Given the description of an element on the screen output the (x, y) to click on. 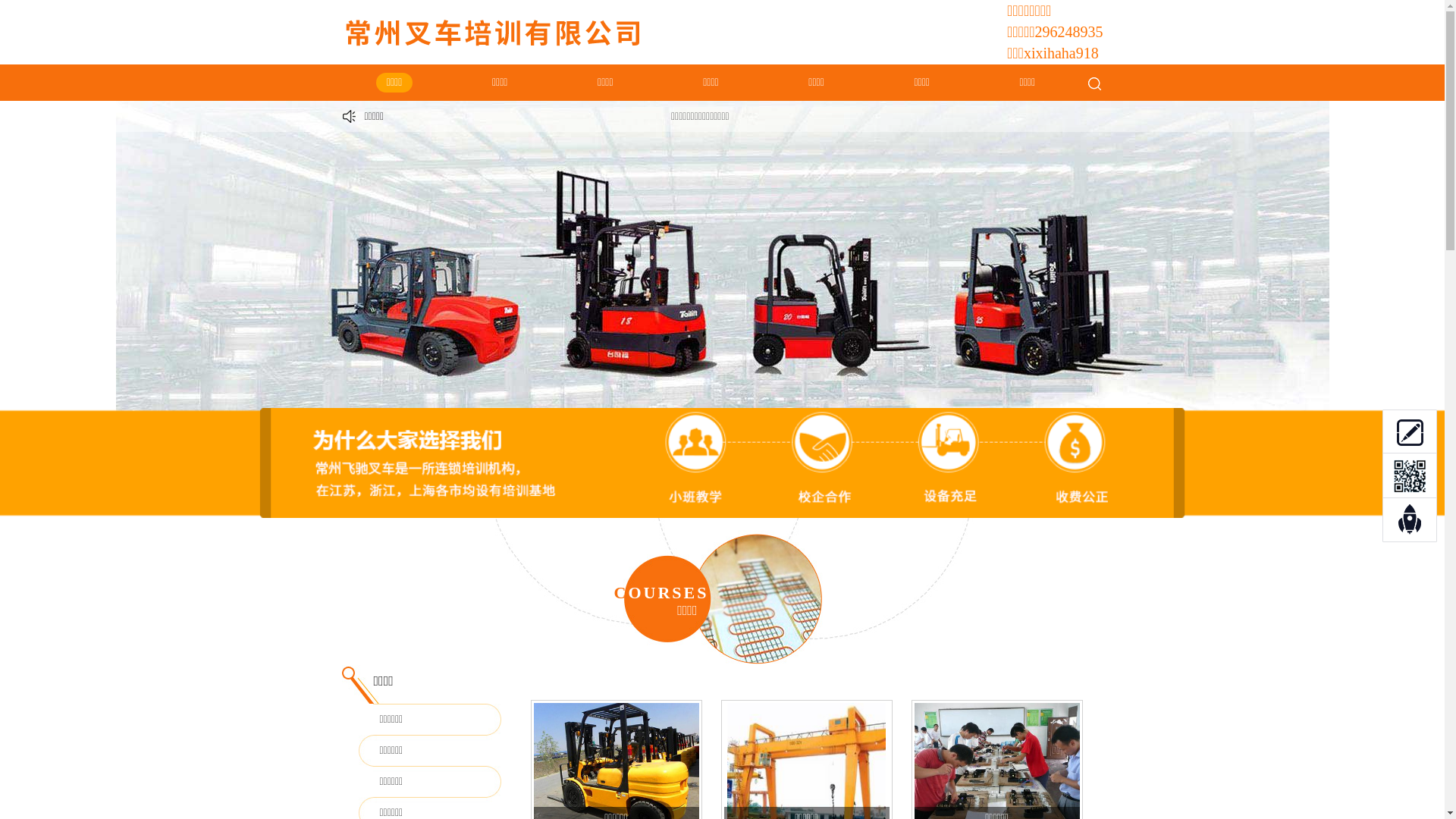
0 Element type: text (1409, 430)
